Given the description of an element on the screen output the (x, y) to click on. 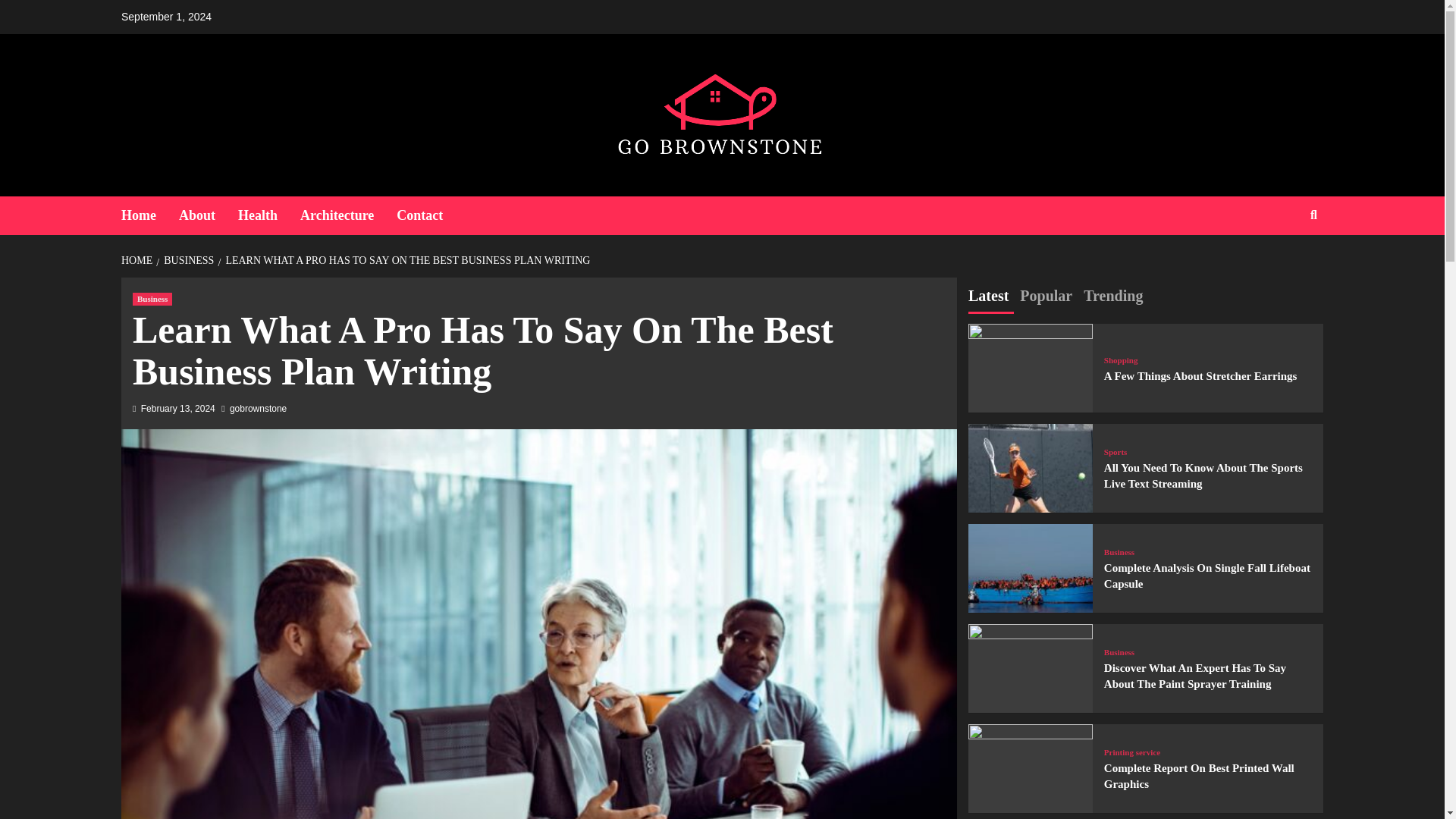
Architecture (347, 215)
Trending (1112, 297)
HOME (137, 260)
Business (151, 298)
Health (268, 215)
Latest (988, 297)
BUSINESS (185, 260)
Search (1278, 264)
About (208, 215)
Home (149, 215)
